Given the description of an element on the screen output the (x, y) to click on. 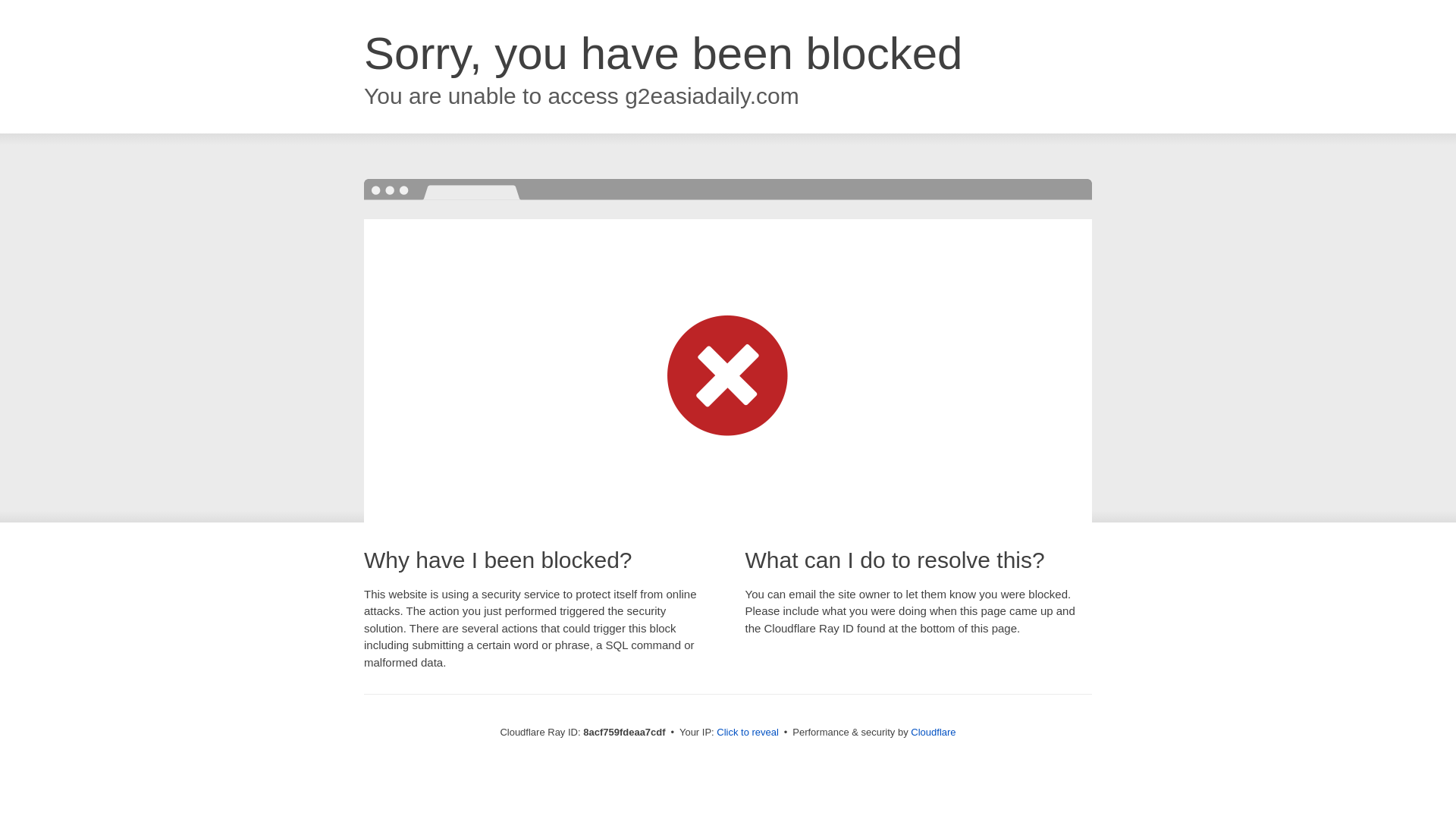
Click to reveal (747, 732)
Cloudflare (933, 731)
